Given the description of an element on the screen output the (x, y) to click on. 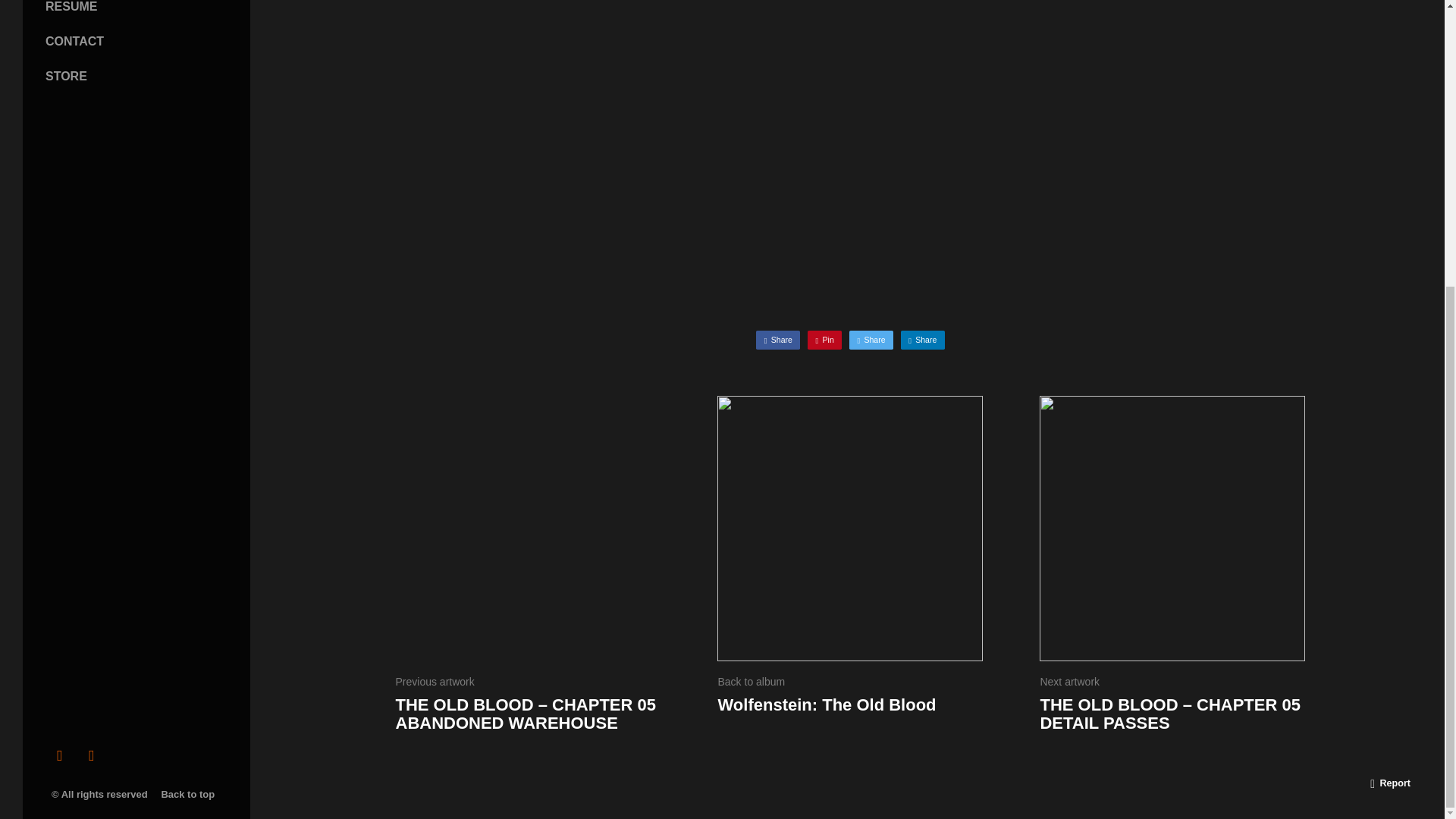
STORE (66, 75)
Pin (824, 339)
Back to top (190, 794)
Share (922, 339)
Report (1390, 783)
Back to top (190, 794)
RESUME (71, 6)
CONTACT (74, 41)
Share (870, 339)
Share (777, 339)
